Given the description of an element on the screen output the (x, y) to click on. 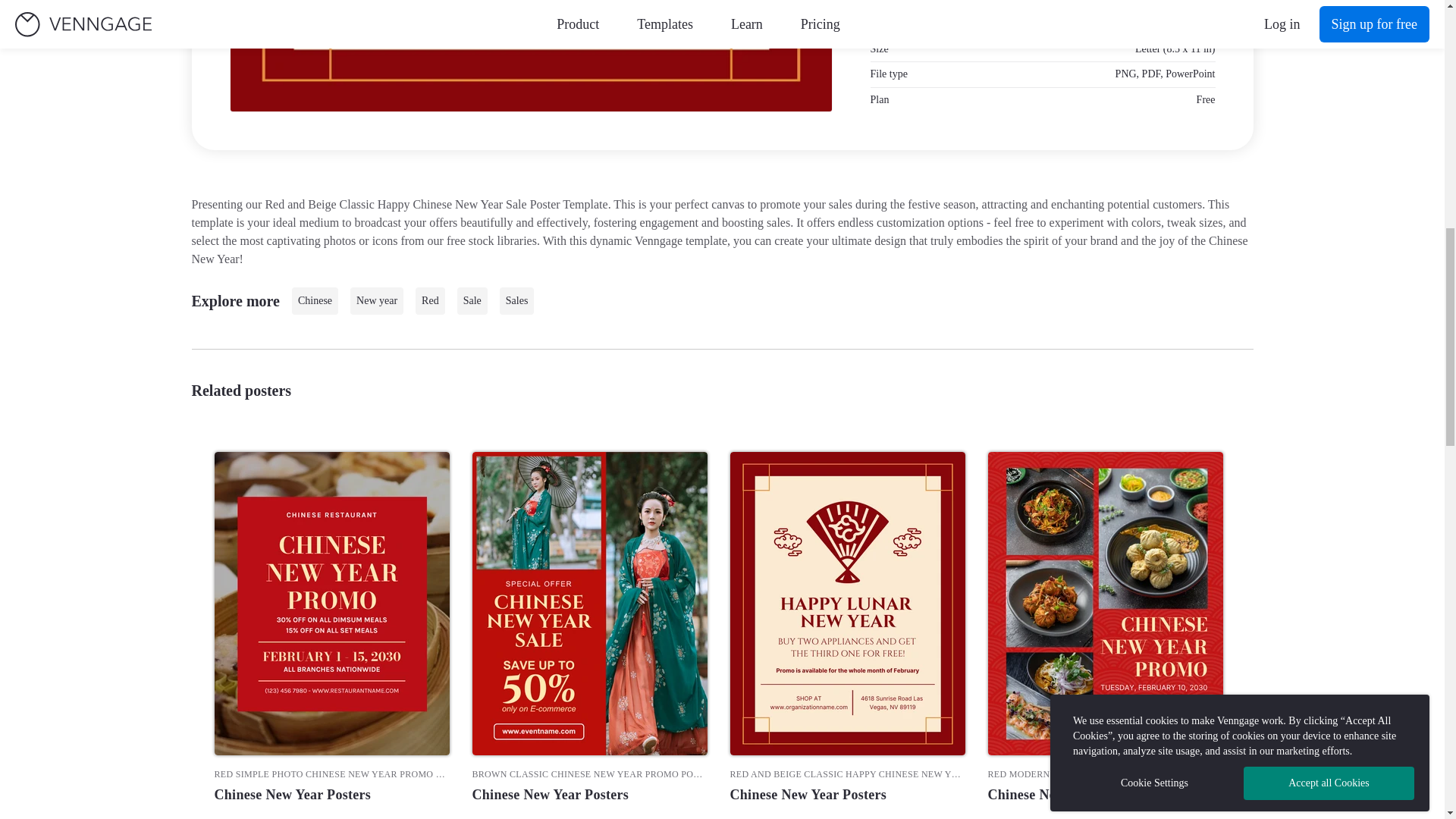
RED SIMPLE PHOTO CHINESE NEW YEAR PROMO POSTER (331, 774)
Red Simple Photo Chinese New Year Promo Poster (331, 774)
Chinese New Year Posters (331, 794)
Red (429, 300)
Chinese New Year Posters (588, 794)
Sales (516, 300)
Sale (472, 300)
